Given the description of an element on the screen output the (x, y) to click on. 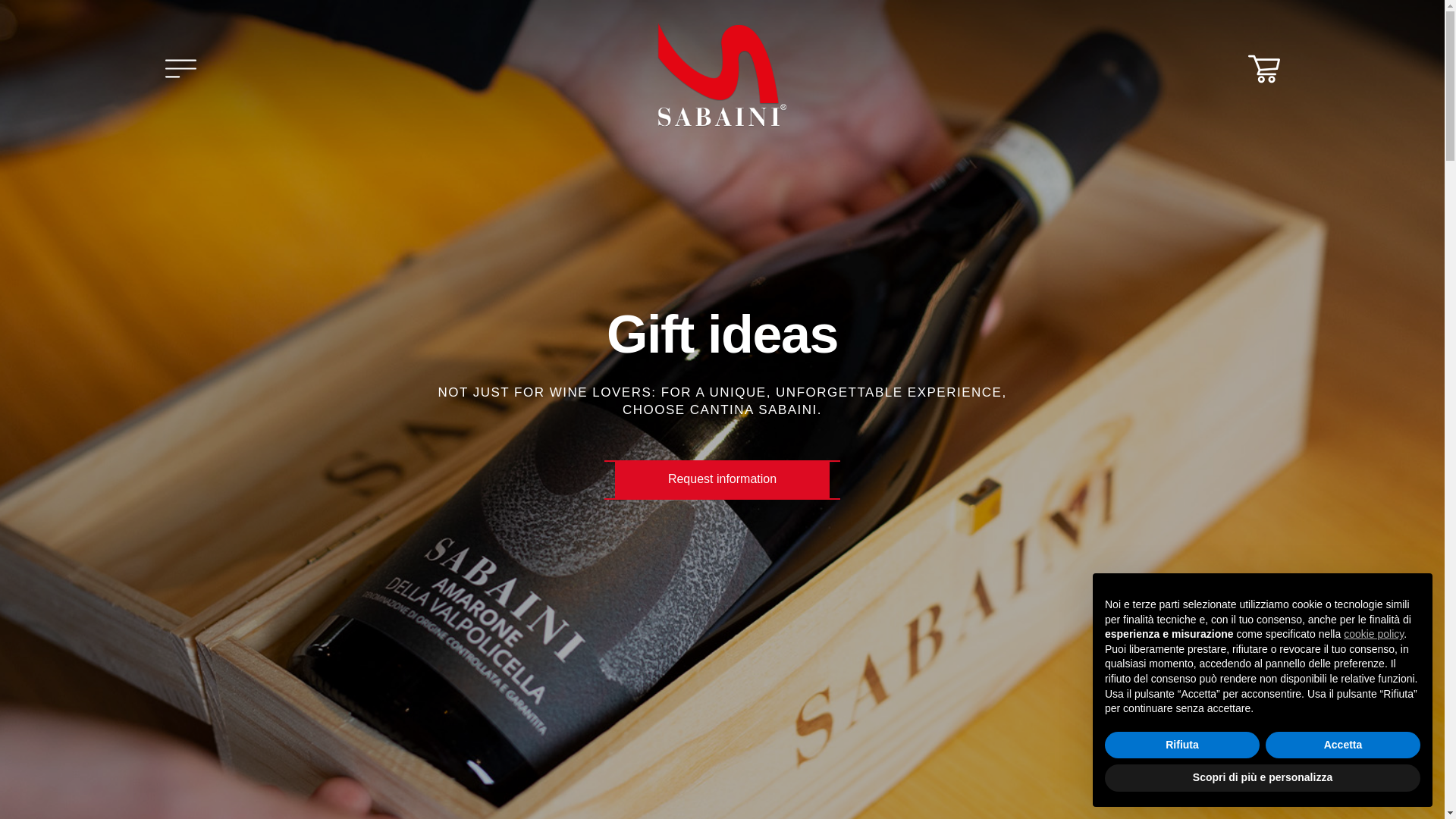
Accetta (1343, 745)
cookie policy (1373, 633)
Request information (722, 478)
Rifiuta (1182, 745)
